Given the description of an element on the screen output the (x, y) to click on. 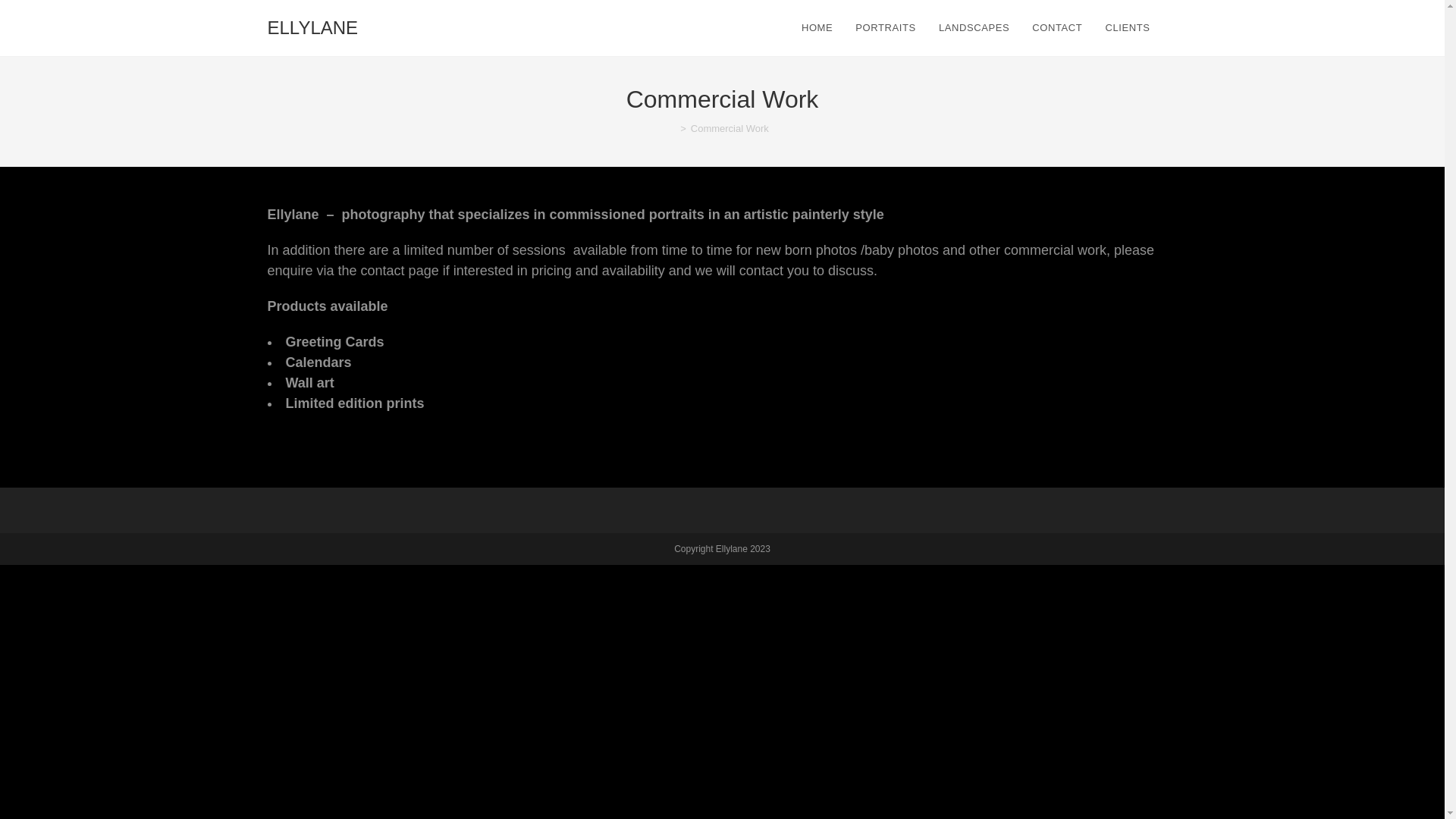
LANDSCAPES Element type: text (973, 28)
HOME Element type: text (817, 28)
PORTRAITS Element type: text (885, 28)
ELLYLANE Element type: text (311, 27)
CLIENTS Element type: text (1129, 28)
CONTACT Element type: text (1056, 28)
